Given the description of an element on the screen output the (x, y) to click on. 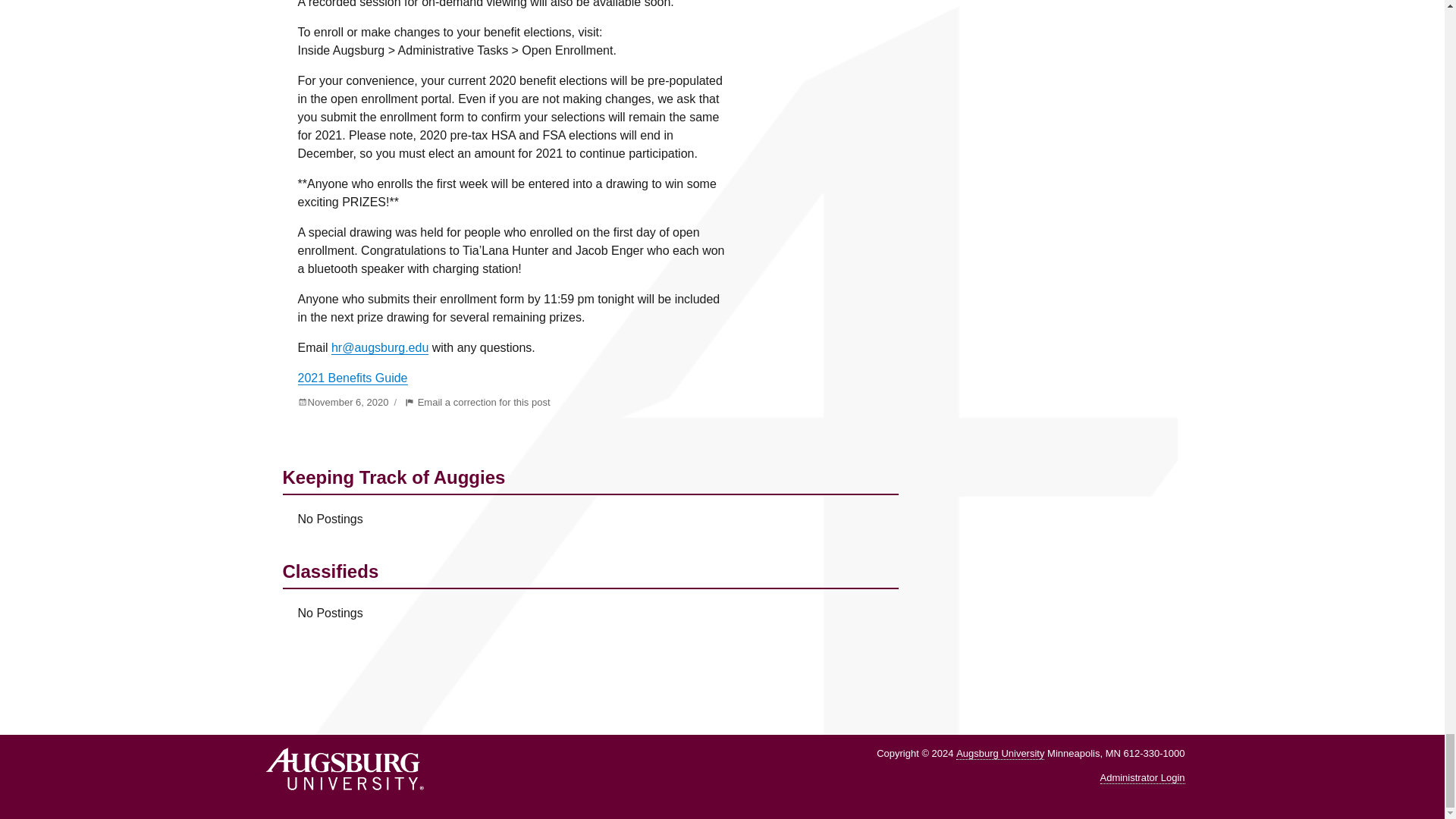
Keeping Track of Auggies (590, 508)
Classifieds (590, 603)
